Given the description of an element on the screen output the (x, y) to click on. 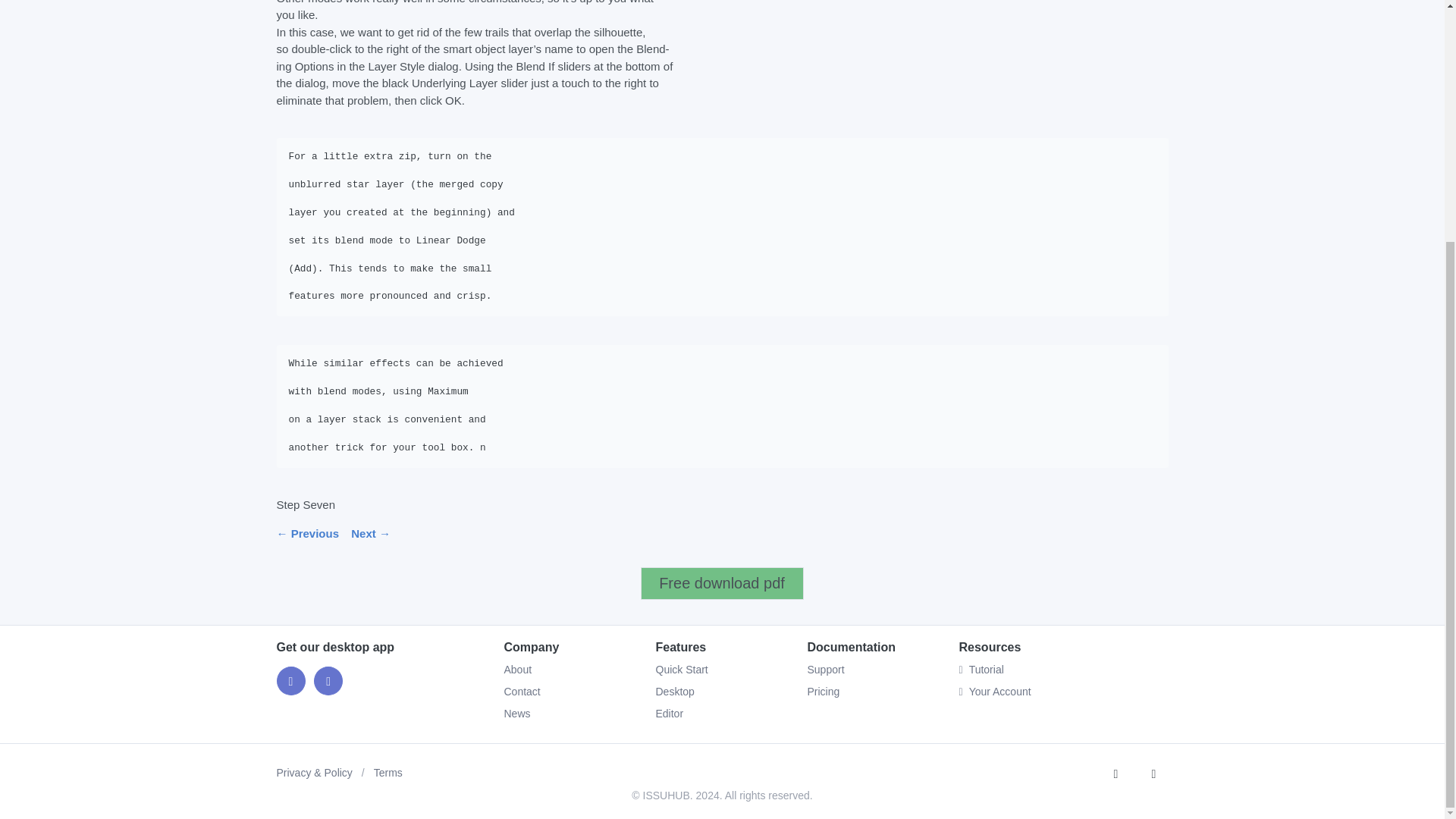
Quick Start (681, 669)
Pricing (823, 691)
Free download pdf (721, 583)
Editor (668, 713)
Your Account (1062, 691)
Desktop (674, 691)
Support (825, 669)
Tutorial (1062, 669)
Contact (521, 691)
Free download pdf (721, 583)
